Given the description of an element on the screen output the (x, y) to click on. 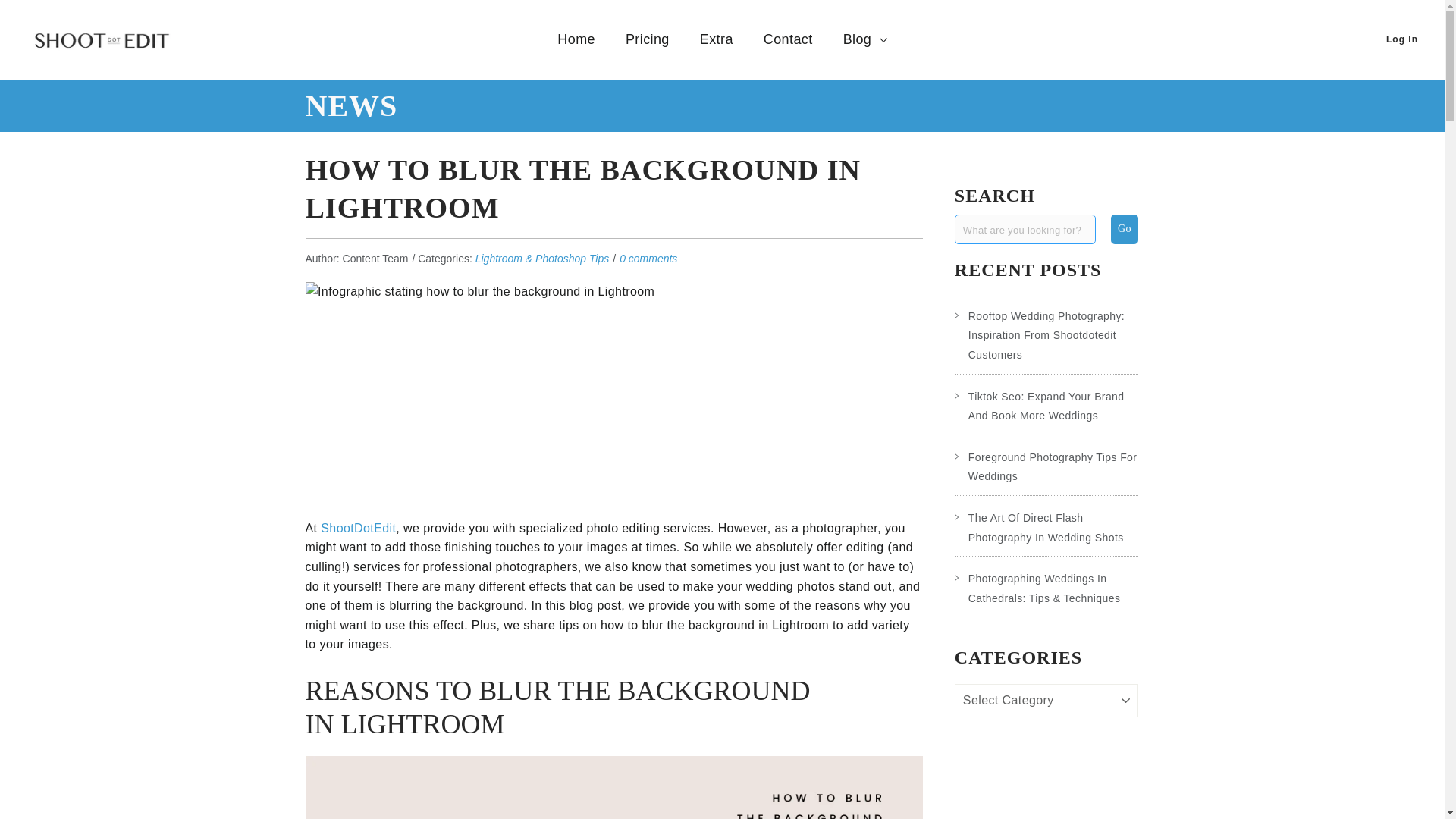
Blog (865, 39)
Pricing (647, 39)
Extra (716, 39)
Contact (788, 39)
Home (575, 39)
Log In (1401, 39)
